Given the description of an element on the screen output the (x, y) to click on. 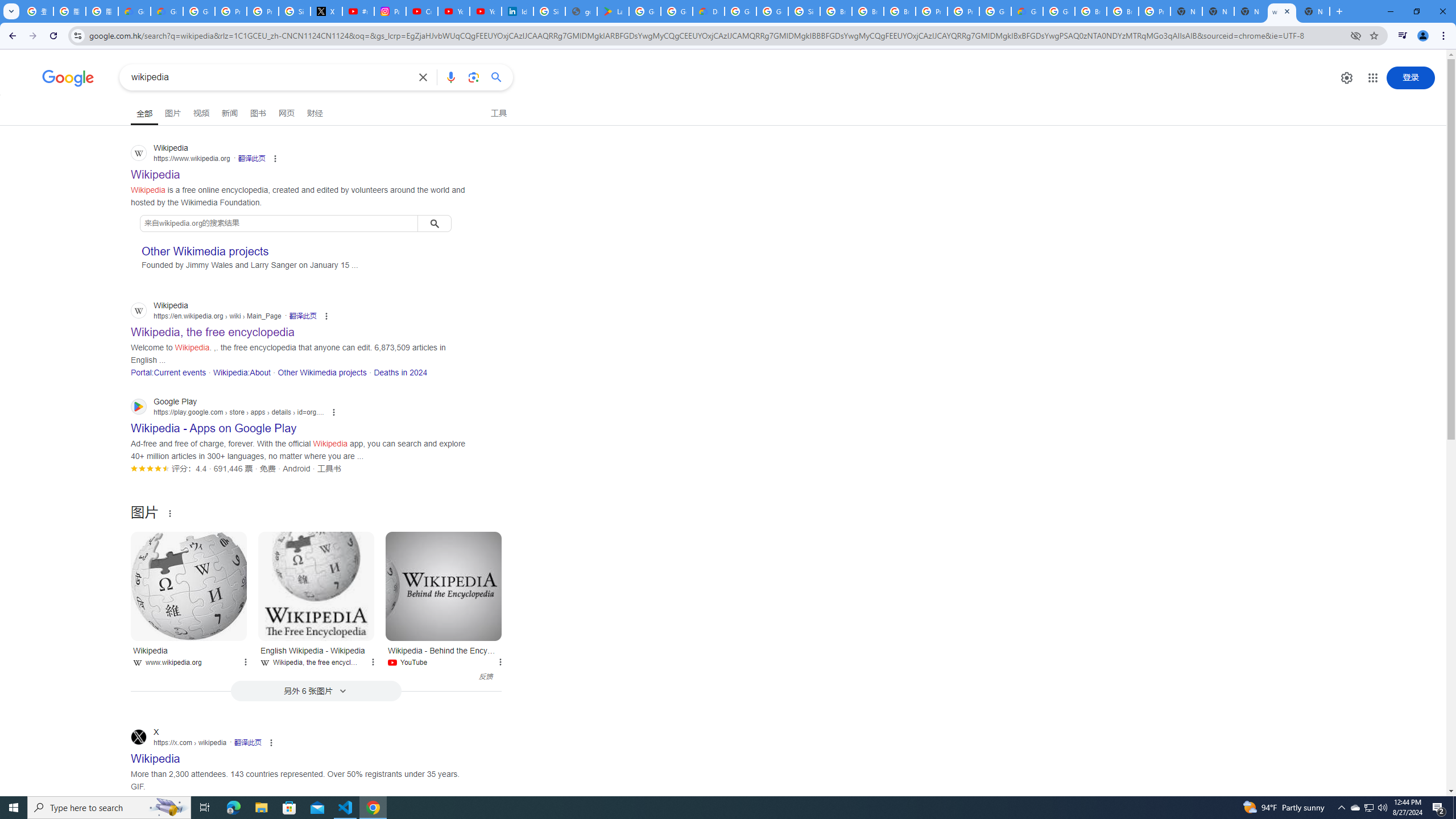
Google Cloud Estimate Summary (1027, 11)
google_privacy_policy_en.pdf (581, 11)
Google Cloud Platform (740, 11)
